Given the description of an element on the screen output the (x, y) to click on. 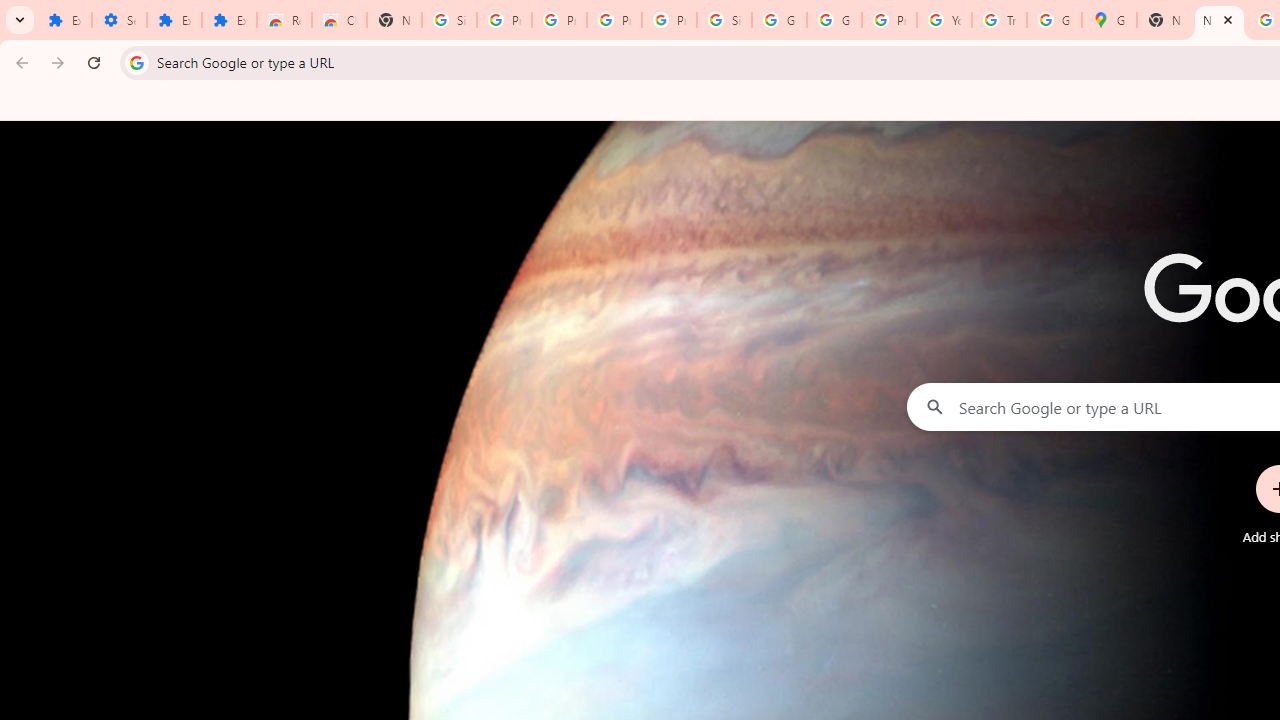
Extensions (174, 20)
Google Maps (1108, 20)
Settings (119, 20)
System (10, 11)
Chrome Web Store - Themes (339, 20)
Sign in - Google Accounts (724, 20)
Forward (57, 62)
Search icon (136, 62)
New Tab (1218, 20)
Sign in - Google Accounts (449, 20)
Extensions (229, 20)
New Tab (394, 20)
